Given the description of an element on the screen output the (x, y) to click on. 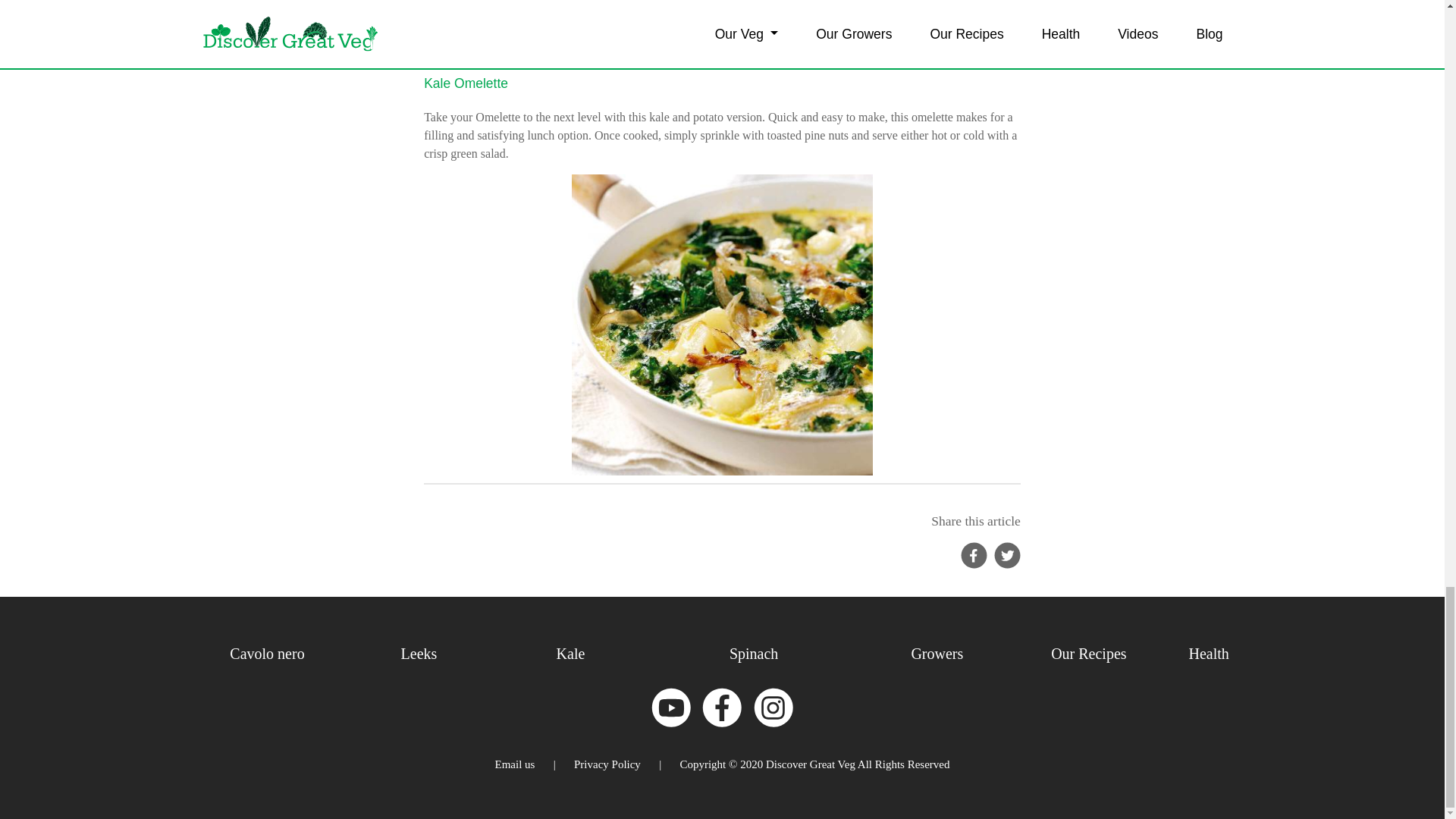
Spinach (753, 654)
Kale Omelette (465, 82)
Growers (936, 654)
Cavolo nero (267, 654)
Leeks (419, 654)
Our Recipes (1088, 654)
Kale (570, 654)
